Given the description of an element on the screen output the (x, y) to click on. 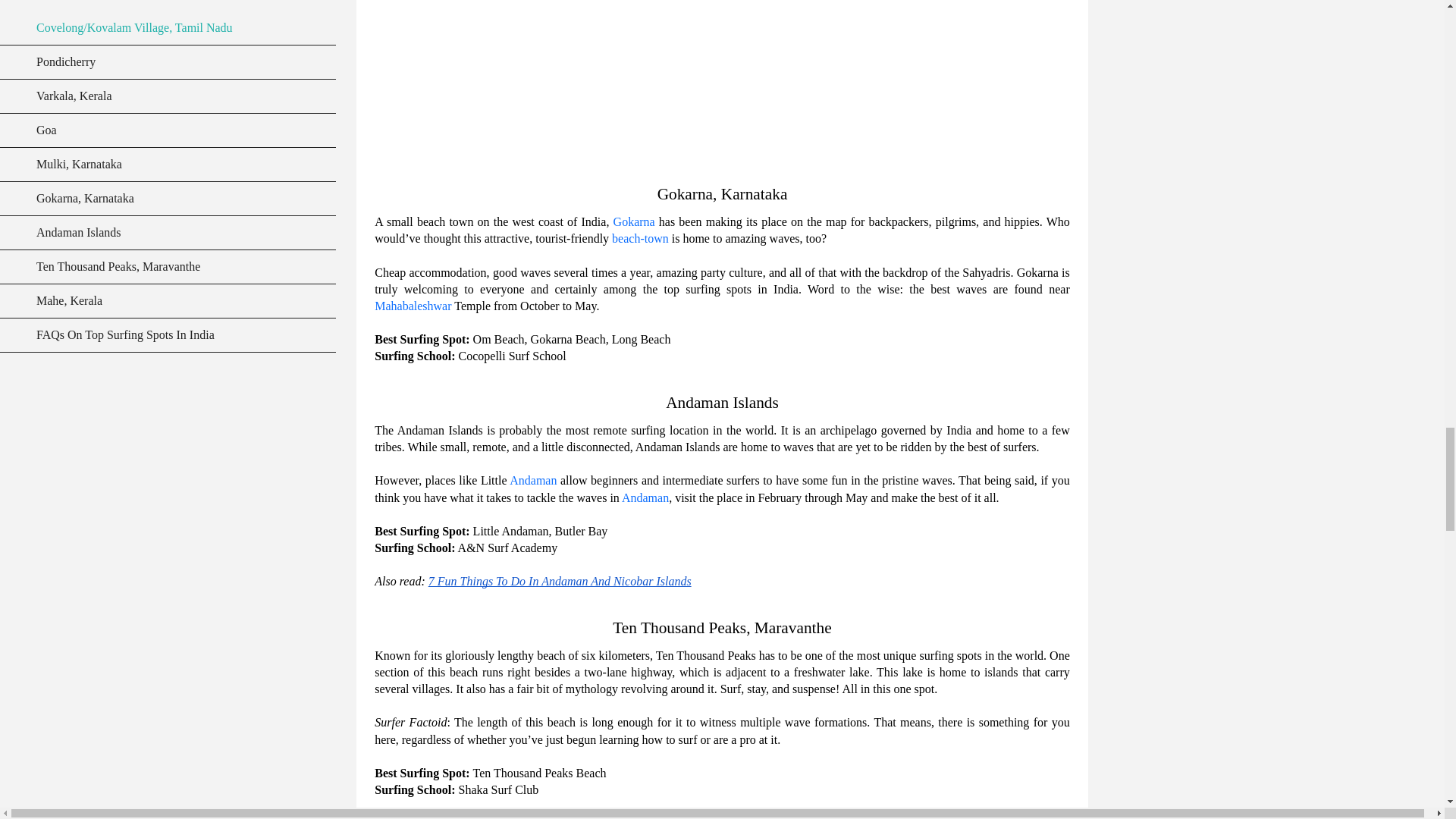
beach-town (639, 237)
Andaman (532, 480)
Gokarna (633, 221)
Andaman (644, 497)
Mahabaleshwar (412, 305)
7 Fun Things To Do In Andaman And Nicobar Islands (559, 581)
